Given the description of an element on the screen output the (x, y) to click on. 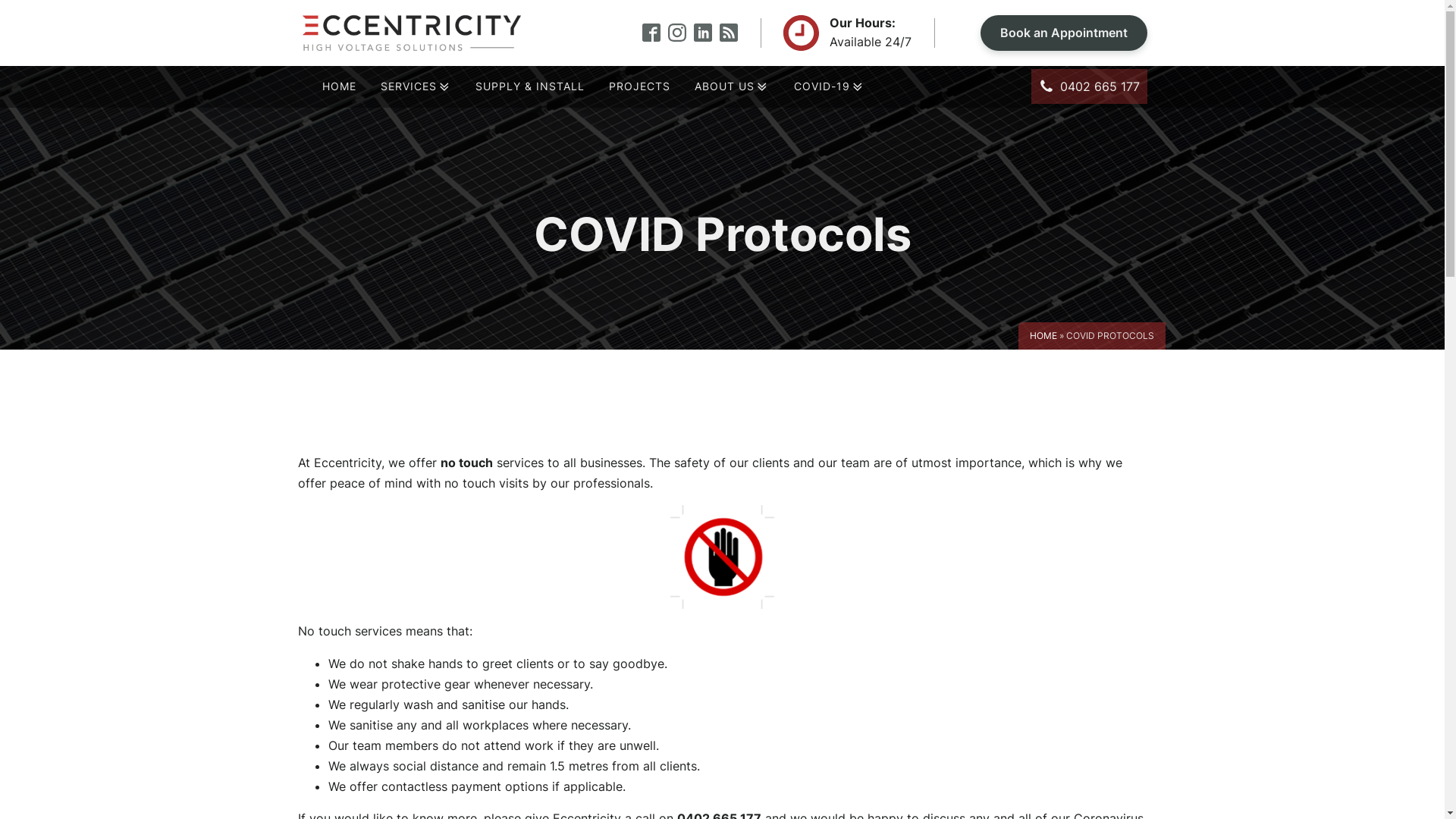
Energised Electrical Testing Element type: text (475, 223)
Industrial Electricians Australia Element type: text (484, 249)
Book an Appointment Element type: text (1062, 32)
PROJECTS Element type: text (639, 86)
HOME Element type: text (338, 86)
Commercial Electricians Australia Element type: text (481, 243)
COVID Protocols 1 Element type: hover (722, 556)
COVID Protocols Element type: text (870, 163)
Thermography Element type: text (472, 216)
0402 665 177 Element type: text (1088, 86)
SUPPLY & INSTALL Element type: text (529, 86)
COVID-19 Sub-Contracting Element type: text (868, 156)
ABOUT US Element type: text (731, 86)
COVID-19 Element type: text (829, 86)
Contact Us Element type: text (725, 141)
Preventative Maintenance Program Element type: text (480, 237)
SERVICES Element type: text (416, 86)
HOME Element type: text (1043, 335)
De-Energised Electrical Testing Element type: text (477, 230)
